Given the description of an element on the screen output the (x, y) to click on. 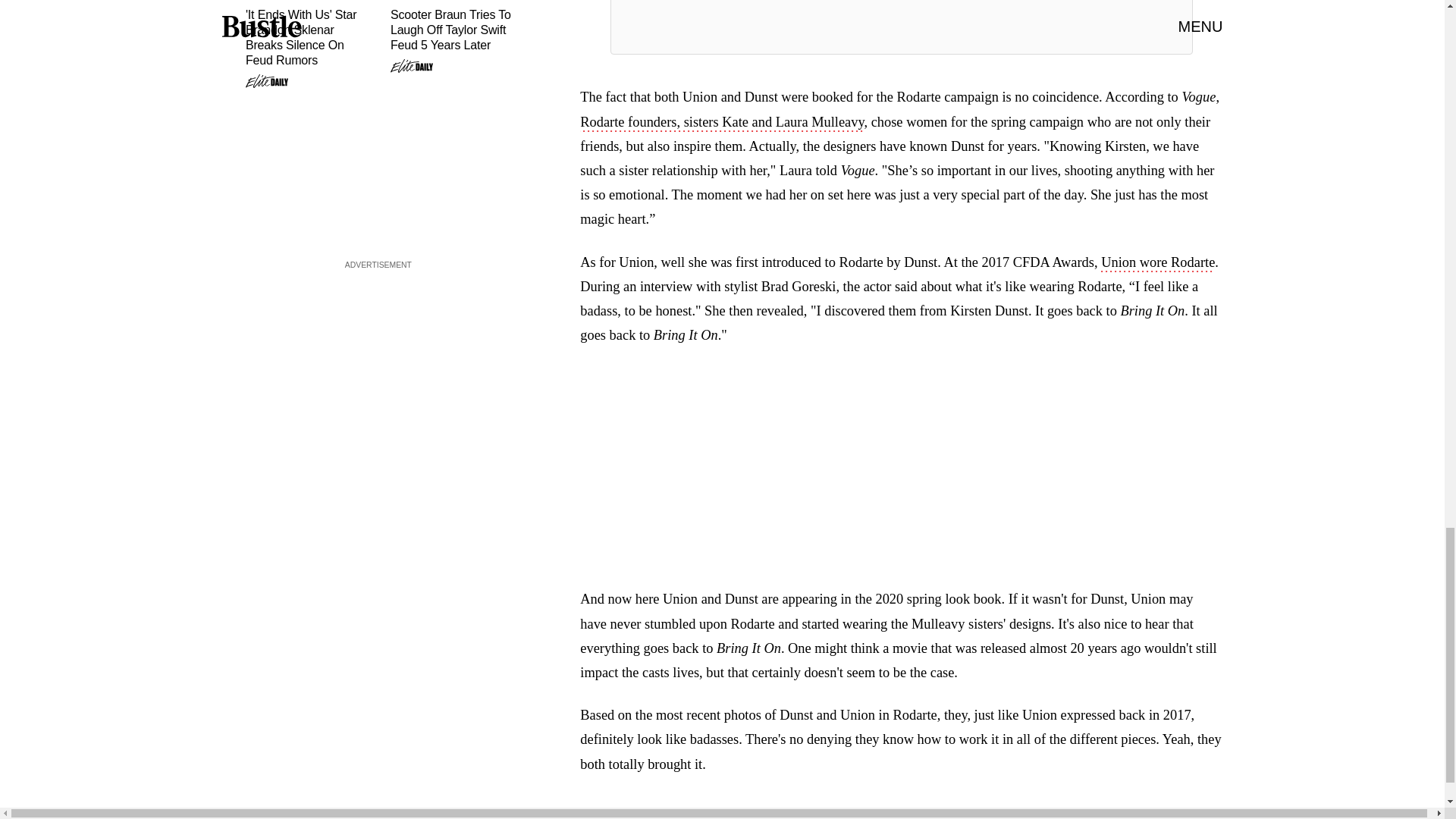
Union wore Rodarte (1157, 263)
Rodarte founders, sisters Kate and Laura Mulleavy (721, 123)
